Given the description of an element on the screen output the (x, y) to click on. 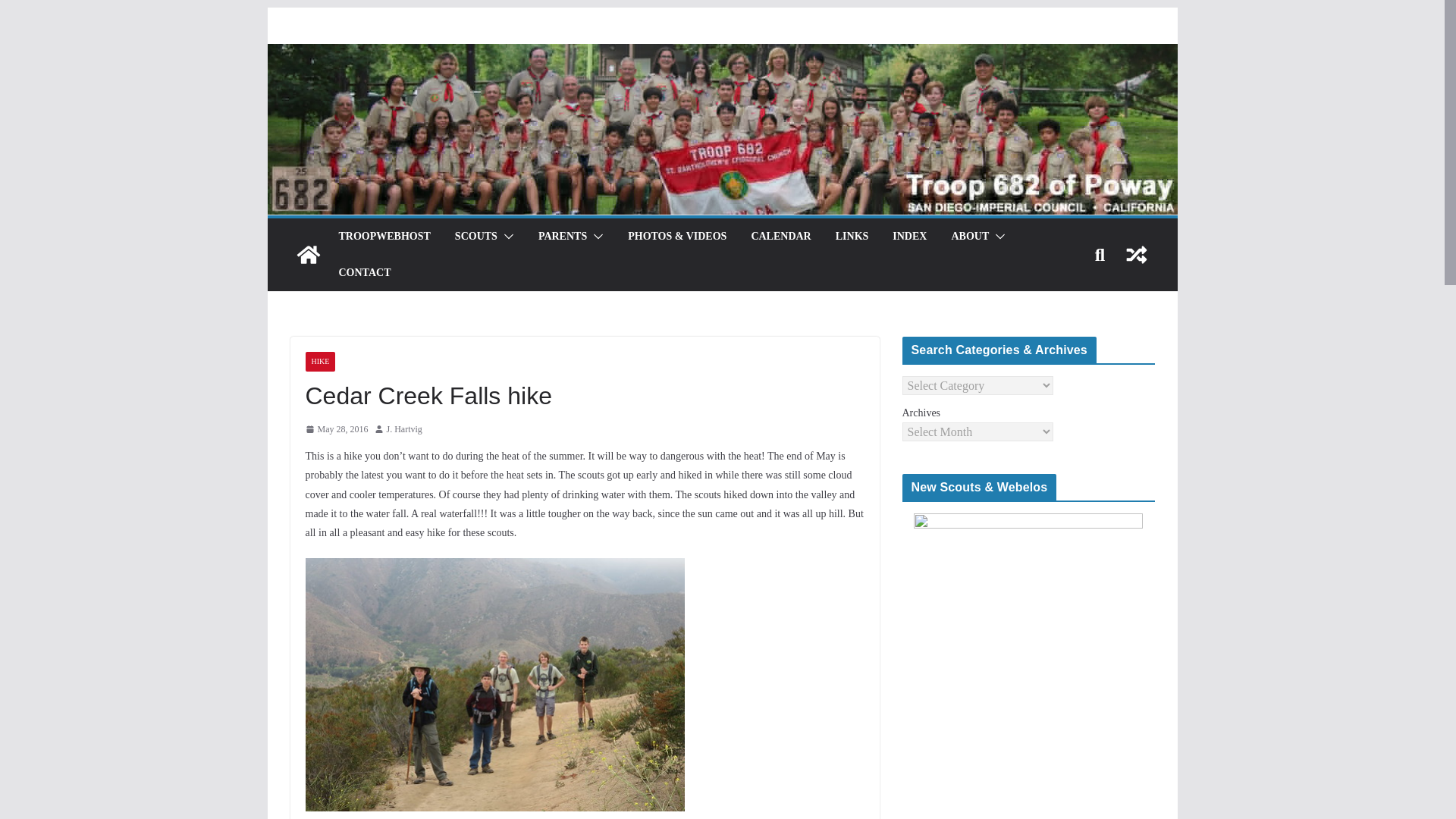
2016-05-28 Cedar Creek Falls Hike (494, 567)
SCOUTS (475, 236)
20:47 (336, 429)
View a random post (1136, 254)
ABOUT (969, 236)
LINKS (852, 236)
PARENTS (562, 236)
J. Hartvig (404, 429)
TROOPWEBHOST (383, 236)
CONTACT (363, 272)
HIKE (319, 361)
INDEX (909, 236)
CALENDAR (780, 236)
May 28, 2016 (336, 429)
